Given the description of an element on the screen output the (x, y) to click on. 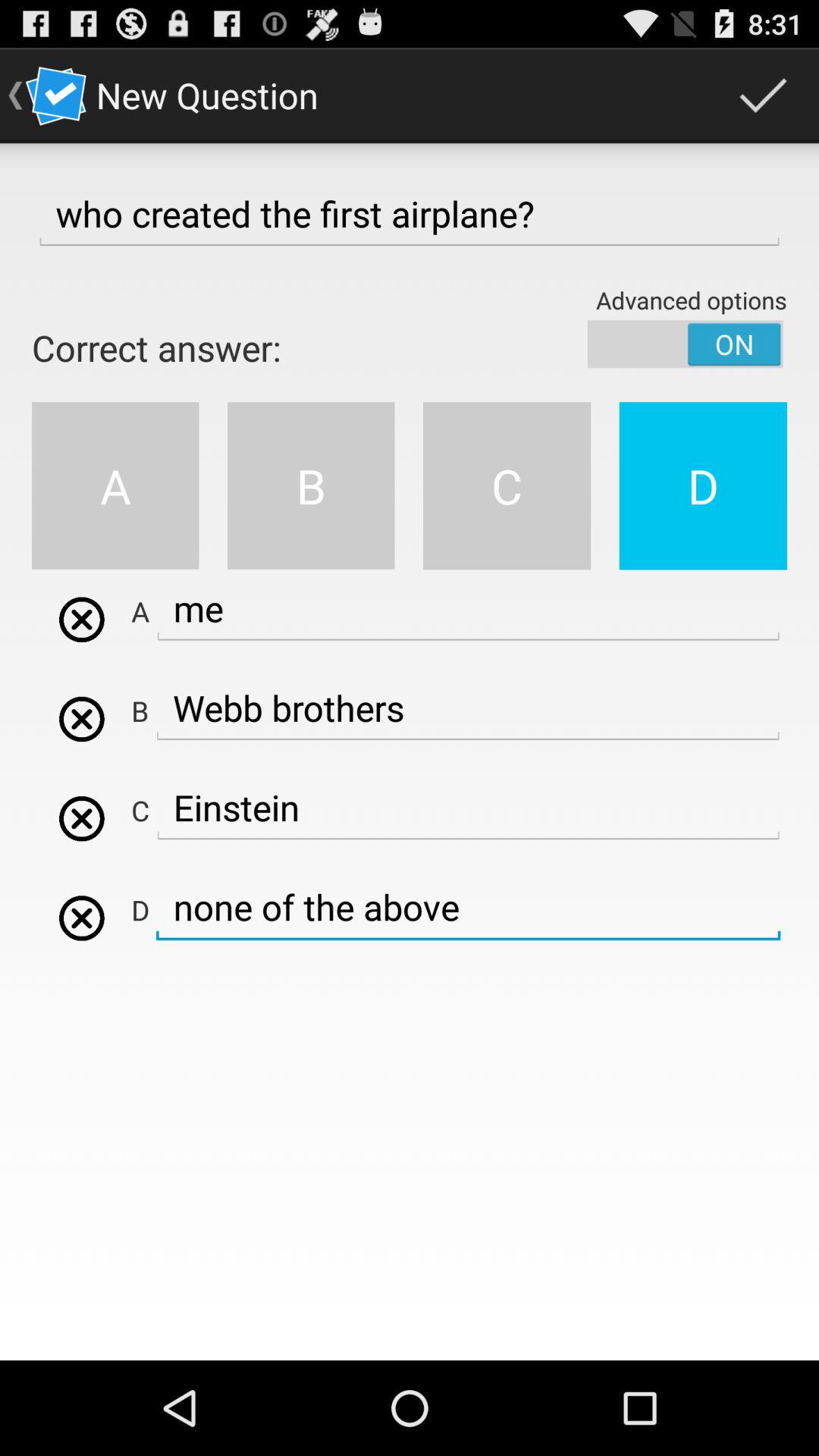
toggle advanced option (685, 343)
